Given the description of an element on the screen output the (x, y) to click on. 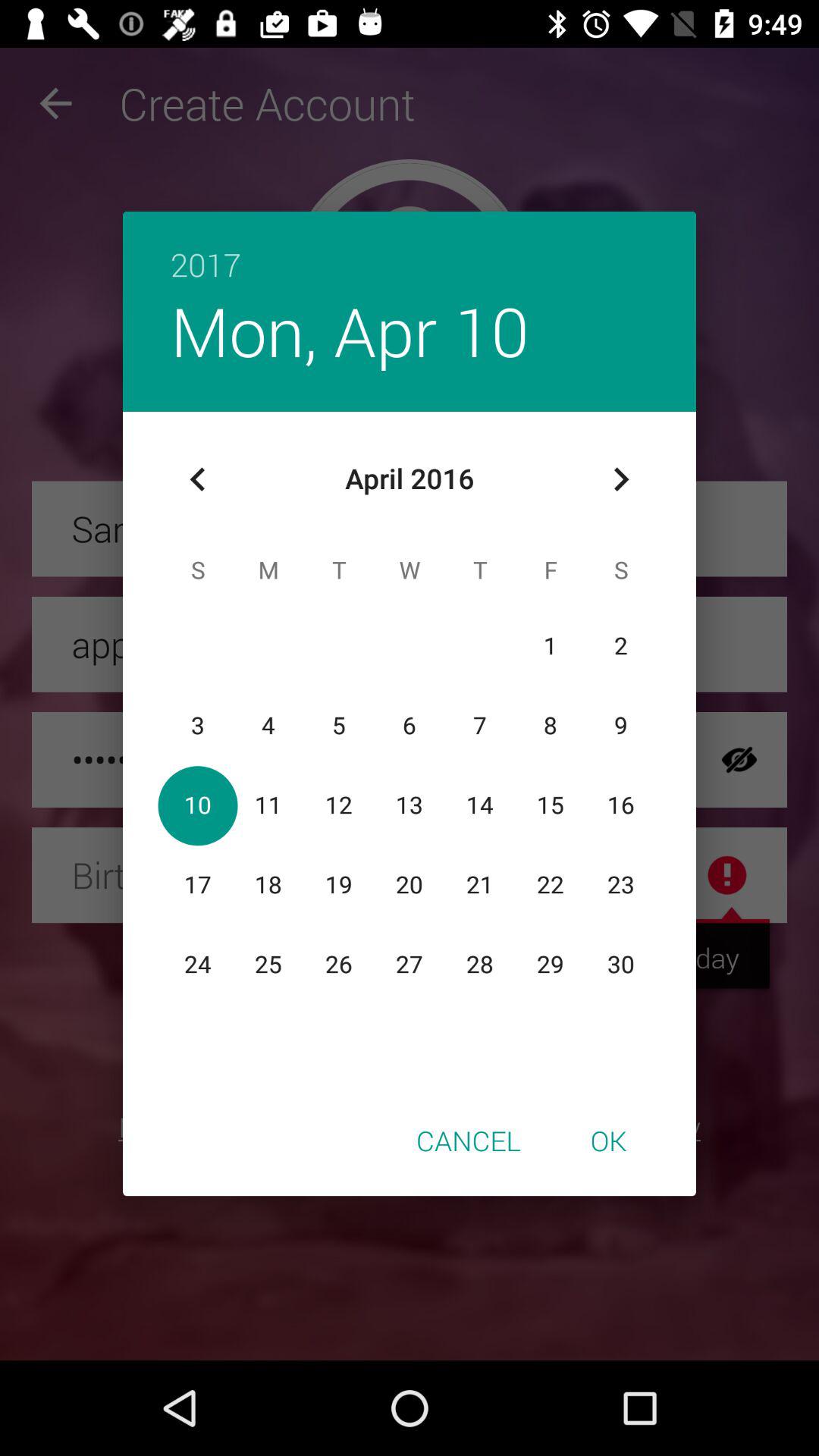
launch mon, apr 10 icon (349, 330)
